Given the description of an element on the screen output the (x, y) to click on. 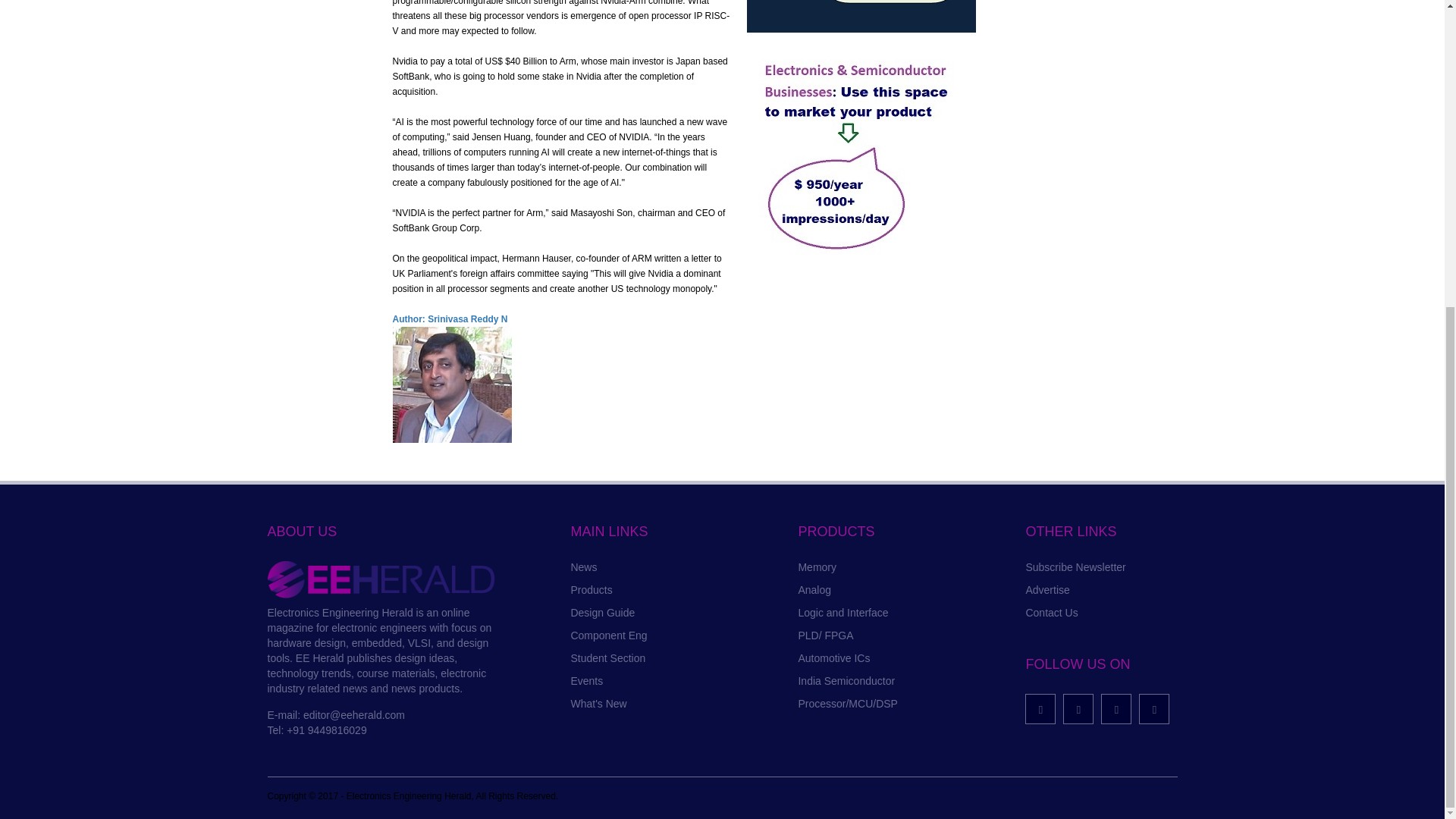
Component Eng (608, 635)
News (583, 567)
Events (586, 680)
Products (590, 589)
Design Guide (602, 612)
Author: Srinivasa Reddy N (450, 318)
Student Section (607, 657)
